Given the description of an element on the screen output the (x, y) to click on. 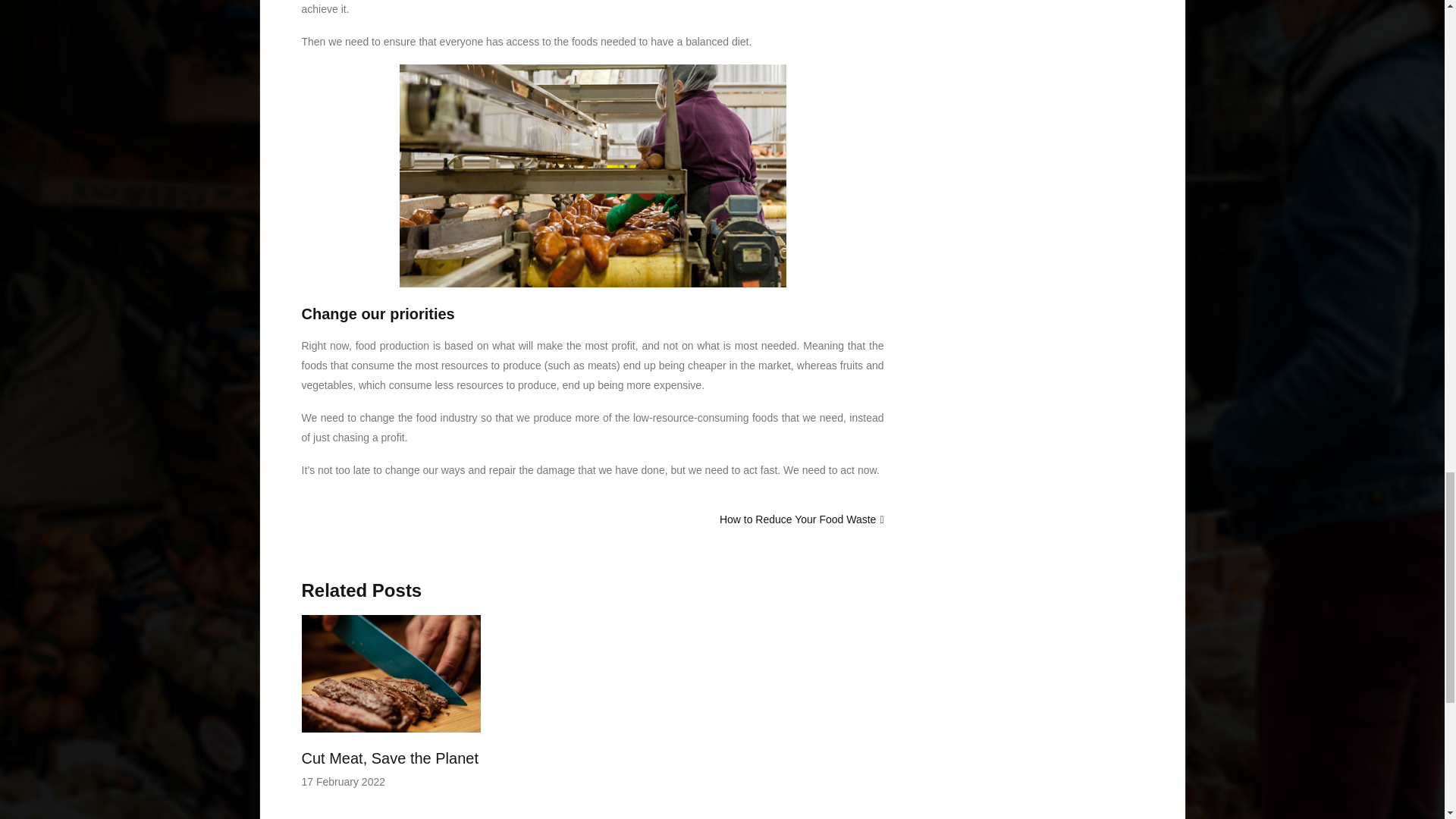
How to Reduce Your Food Waste (797, 519)
Cut Meat, Save the Planet (390, 758)
